Given the description of an element on the screen output the (x, y) to click on. 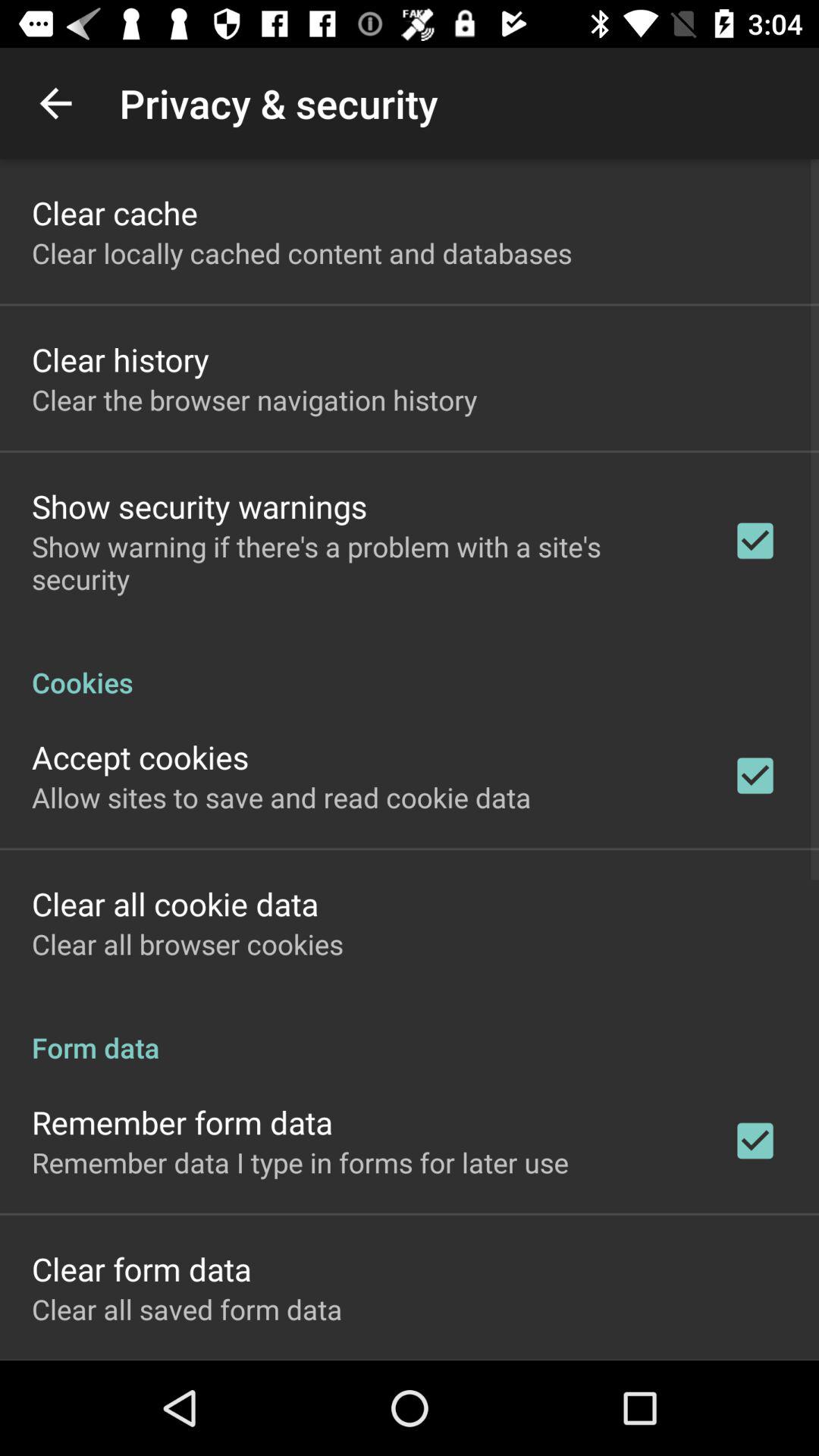
choose clear cache item (114, 212)
